Given the description of an element on the screen output the (x, y) to click on. 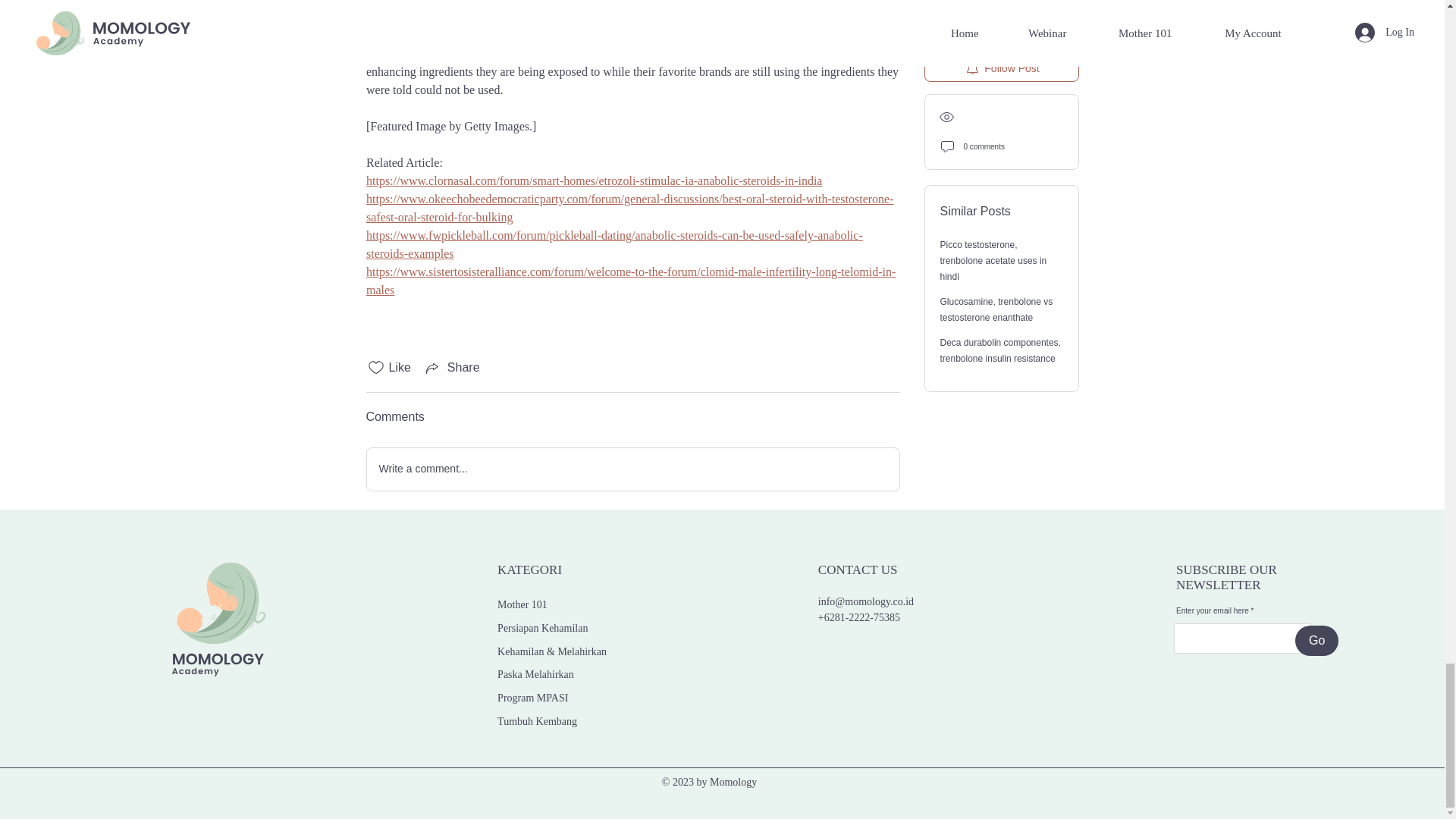
Tumbuh Kembang (536, 721)
Share (451, 367)
Program MPASI (532, 697)
Persiapan Kehamilan (542, 627)
Paska Melahirkan (535, 674)
Mother 101 (522, 604)
Write a comment... (632, 468)
